Given the description of an element on the screen output the (x, y) to click on. 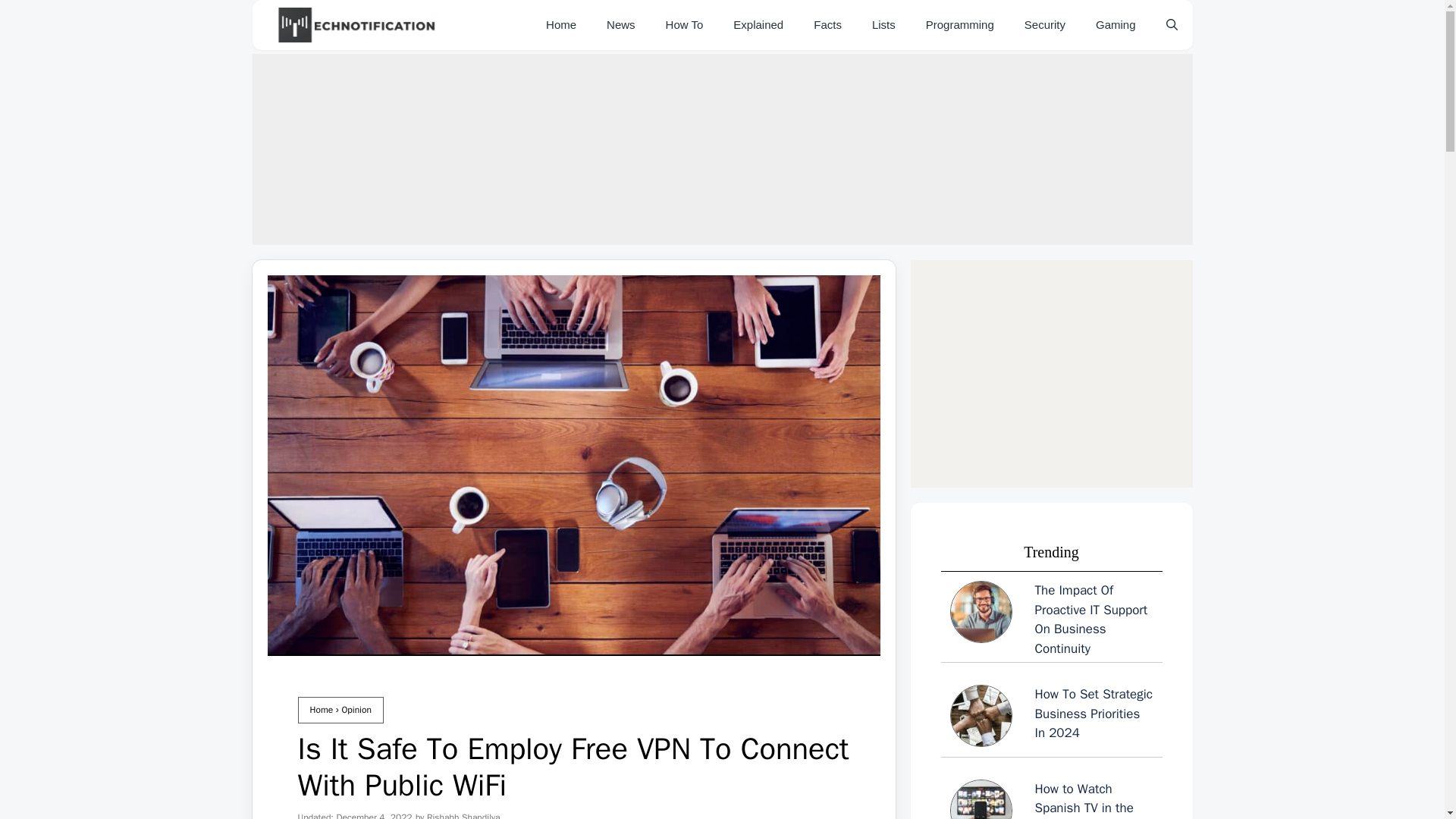
Lists (884, 24)
Rishabh Shandilya (463, 815)
Explained (757, 24)
Programming (960, 24)
View all posts by Rishabh Shandilya (463, 815)
Home (320, 709)
How To (684, 24)
Home (561, 24)
Opinion (355, 709)
How to Watch Spanish TV in the US (1051, 799)
News (620, 24)
Technotification (352, 24)
Technotification (357, 24)
The Impact Of Proactive IT Support On Business Continuity (1051, 619)
Security (1044, 24)
